Given the description of an element on the screen output the (x, y) to click on. 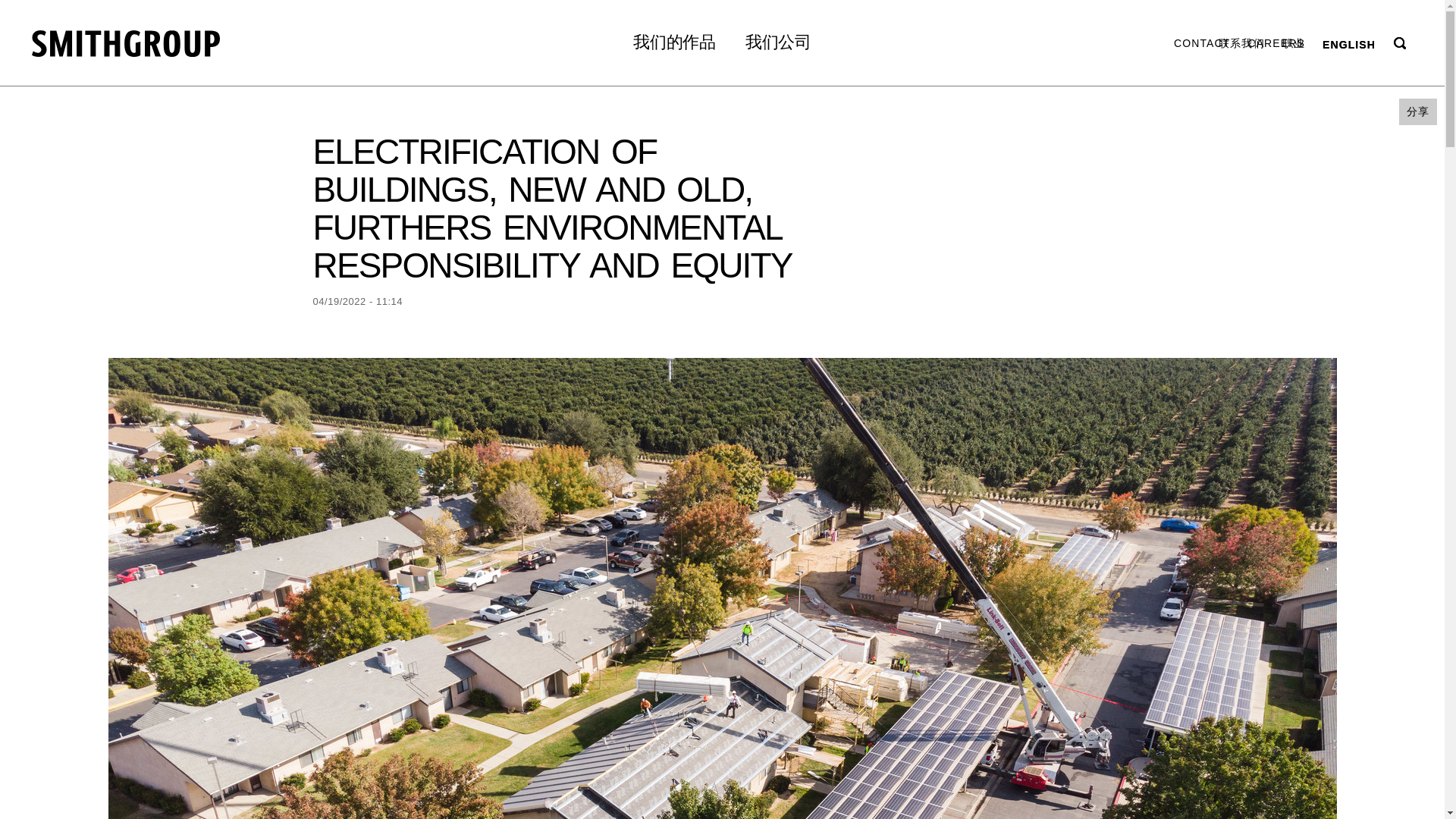
CAREERS (1275, 43)
CONTACT (1201, 43)
ENGLISH (1348, 43)
